Given the description of an element on the screen output the (x, y) to click on. 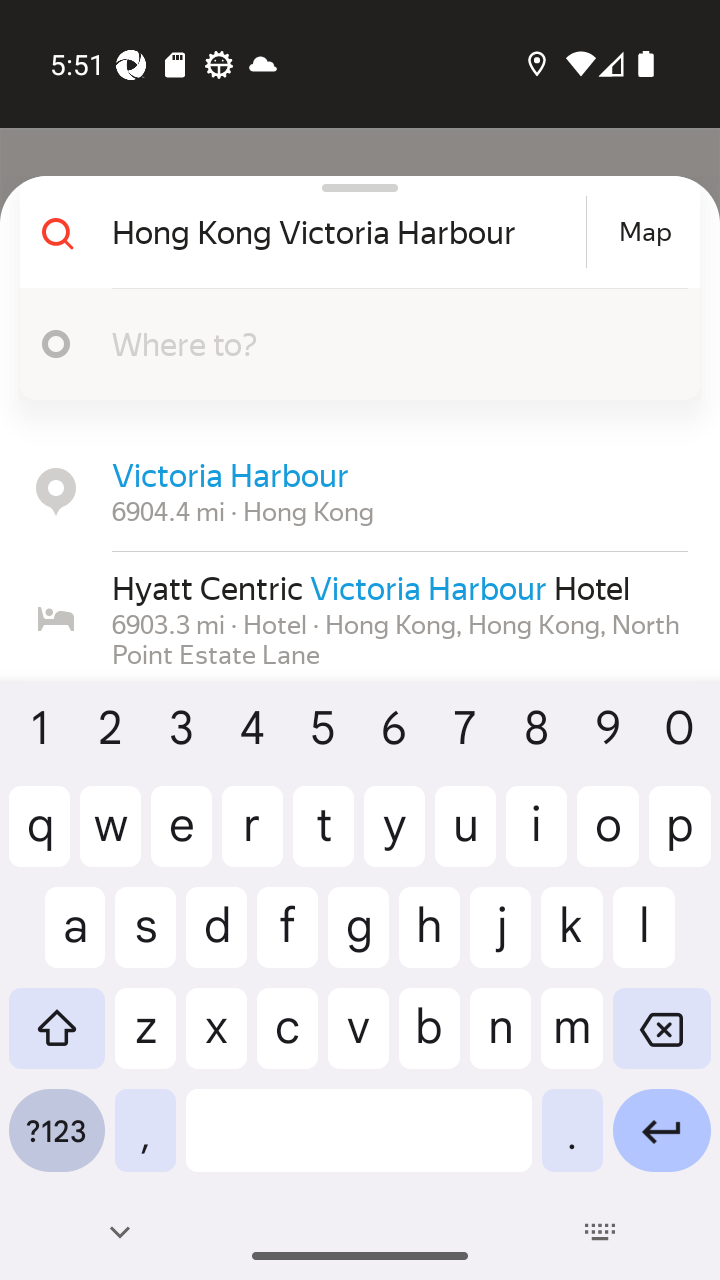
Hong Kong Victoria Harbour Map Map (352, 232)
Map (645, 232)
Hong Kong Victoria Harbour (346, 232)
Where to? (352, 343)
Where to? (390, 343)
